Given the description of an element on the screen output the (x, y) to click on. 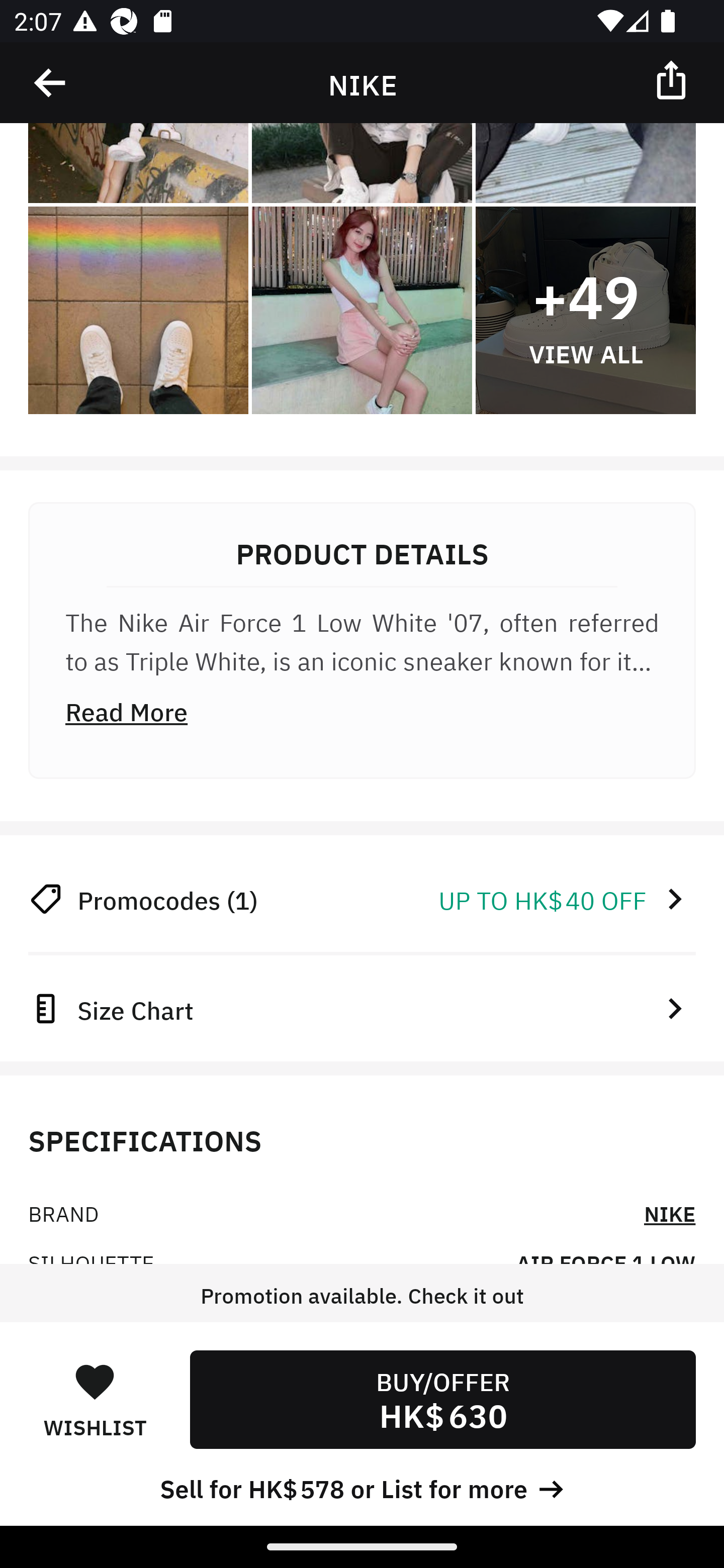
 (50, 83)
 (672, 79)
Promocodes (1) UP TO HK$ 40 OFF  (361, 899)
Size Chart  (361, 1008)
NIKE (669, 1212)
BUY/OFFER HK$ 630 (442, 1399)
󰋑 (94, 1380)
Sell for HK$ 578 or List for more (361, 1486)
